Given the description of an element on the screen output the (x, y) to click on. 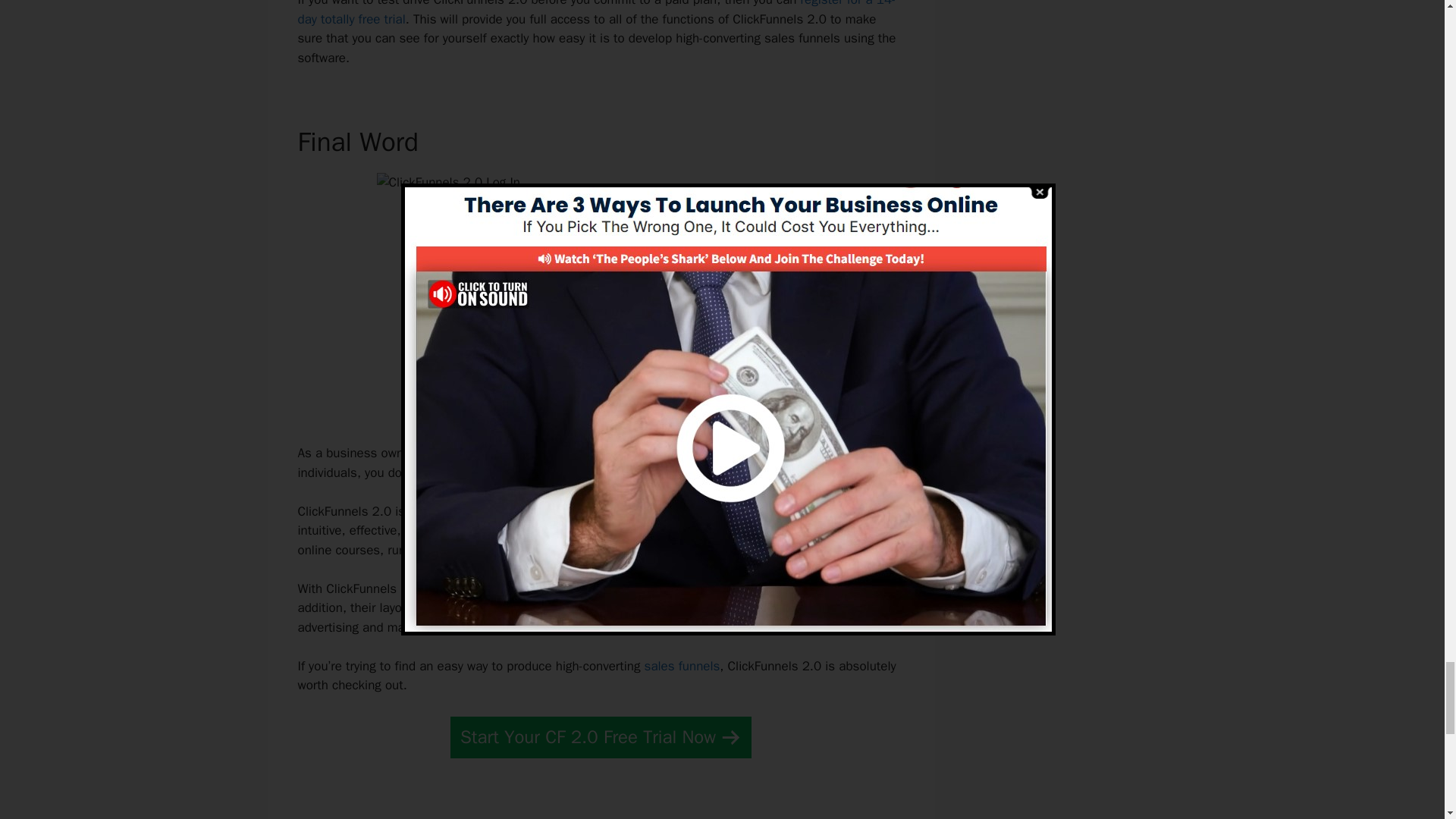
Start Your CF 2.0 Free Trial Now (600, 737)
register for a 14-day totally free trial (596, 13)
sales funnels (682, 666)
sales funnels are crucial for your success (620, 453)
